Given the description of an element on the screen output the (x, y) to click on. 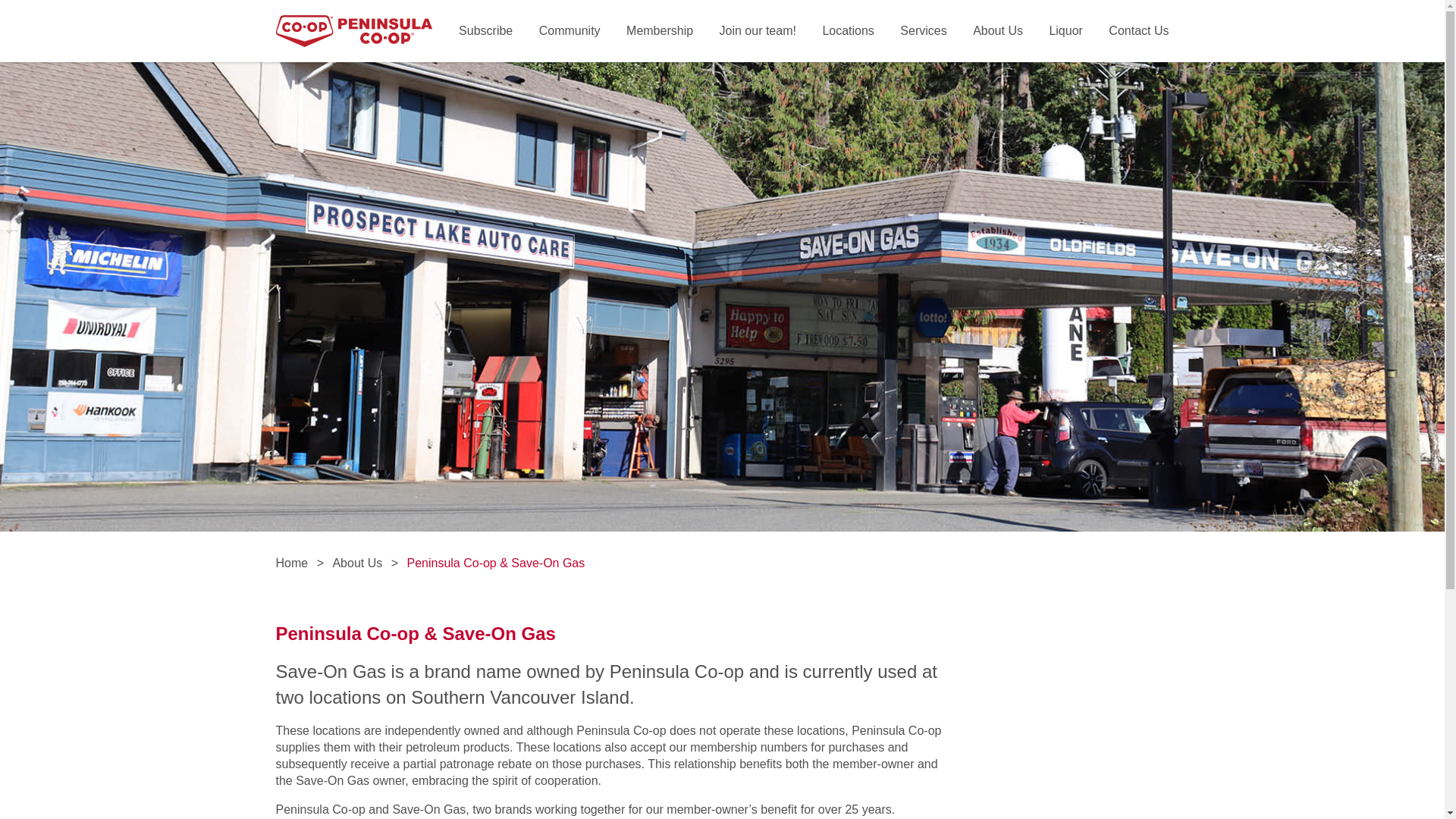
Join our team! (757, 30)
Go to About Us. (356, 562)
Membership (659, 30)
Services (922, 30)
Community (568, 30)
Peninsula CO-OP (354, 30)
Locations (848, 30)
Go to Peninsula Co-op. (292, 562)
Subscribe (485, 30)
About Us (997, 30)
